Given the description of an element on the screen output the (x, y) to click on. 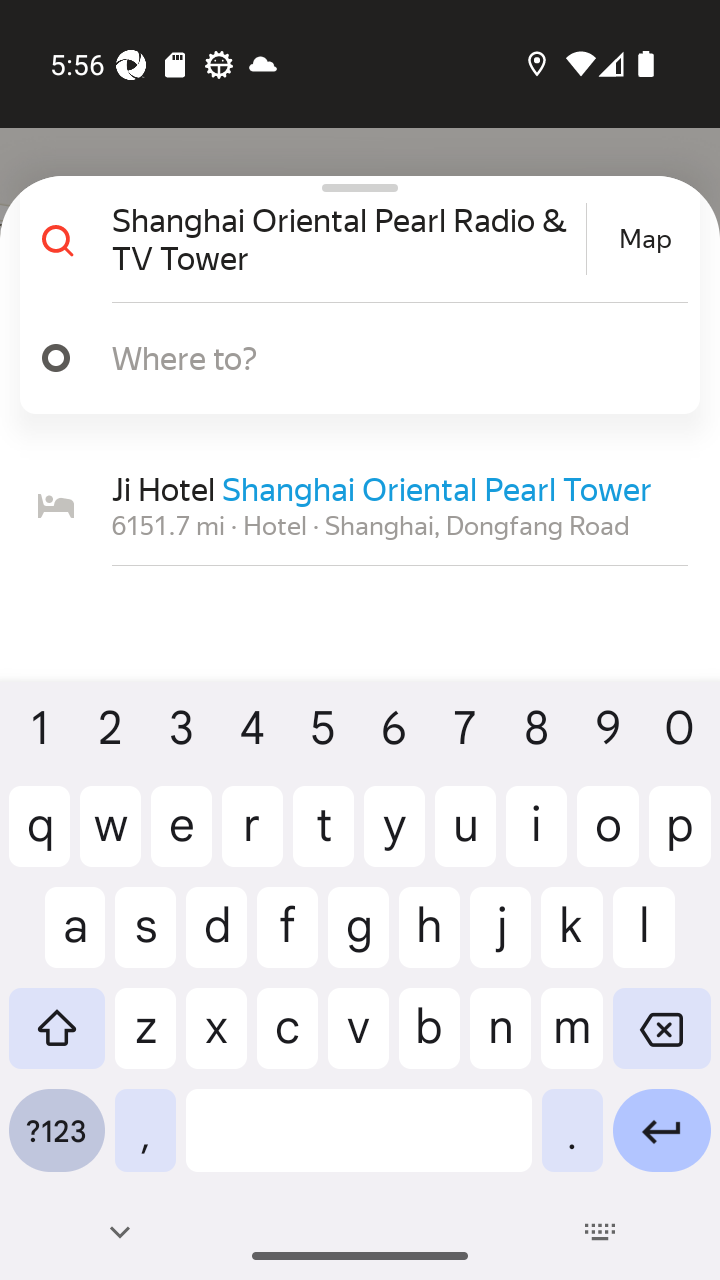
Shanghai Oriental Pearl Radio & TV Tower Map Map (352, 239)
Map (645, 239)
Shanghai Oriental Pearl Radio & TV Tower (346, 238)
Where to? (352, 357)
Where to? (373, 357)
